Given the description of an element on the screen output the (x, y) to click on. 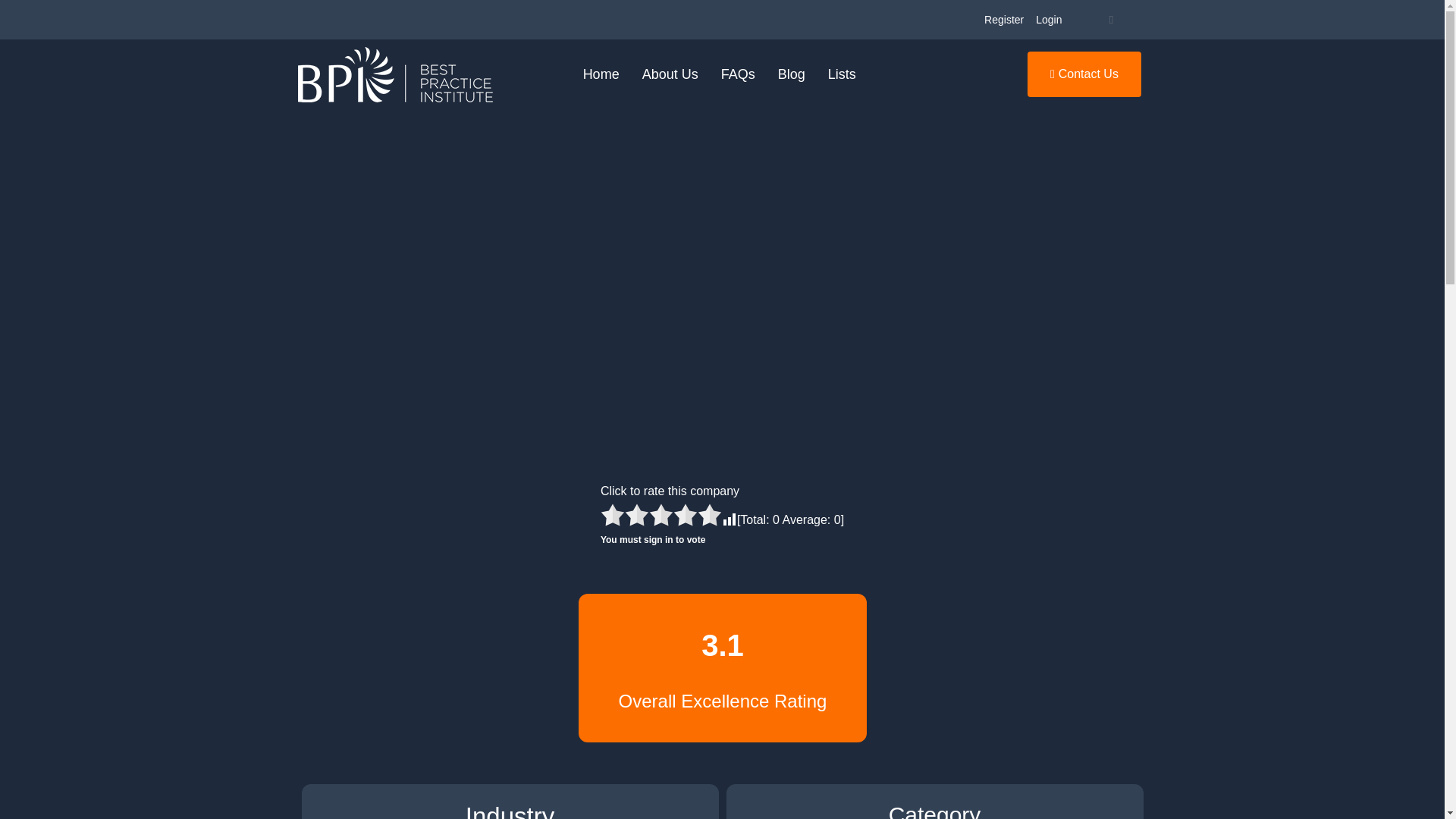
Blog (791, 74)
About Us (670, 74)
Register (1003, 19)
Cart (1110, 19)
FAQs (738, 74)
Contact Us (1084, 74)
Home (601, 74)
Lists (841, 74)
Login (1048, 19)
